Given the description of an element on the screen output the (x, y) to click on. 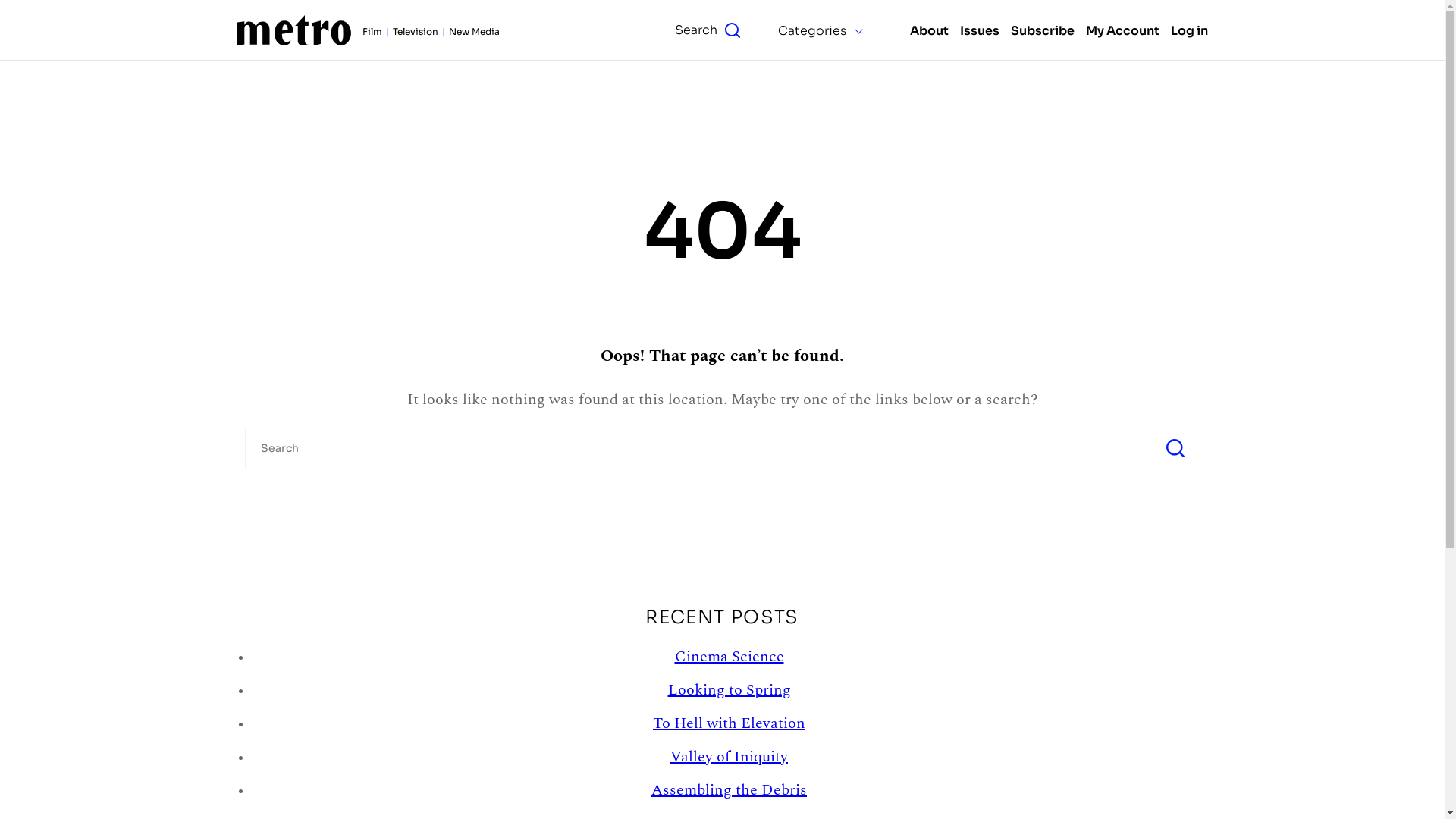
Looking to Spring Element type: text (728, 689)
Issues Element type: text (979, 30)
Go Element type: text (1176, 80)
Search Element type: text (707, 30)
Valley of Iniquity Element type: text (728, 756)
Go Element type: text (1175, 448)
Assembling the Debris Element type: text (728, 789)
Cinema Science Element type: text (729, 656)
My Account Element type: text (1122, 30)
Subscribe Element type: text (1041, 30)
To Hell with Elevation Element type: text (728, 723)
Log in Element type: text (1189, 30)
About Element type: text (929, 30)
